Given the description of an element on the screen output the (x, y) to click on. 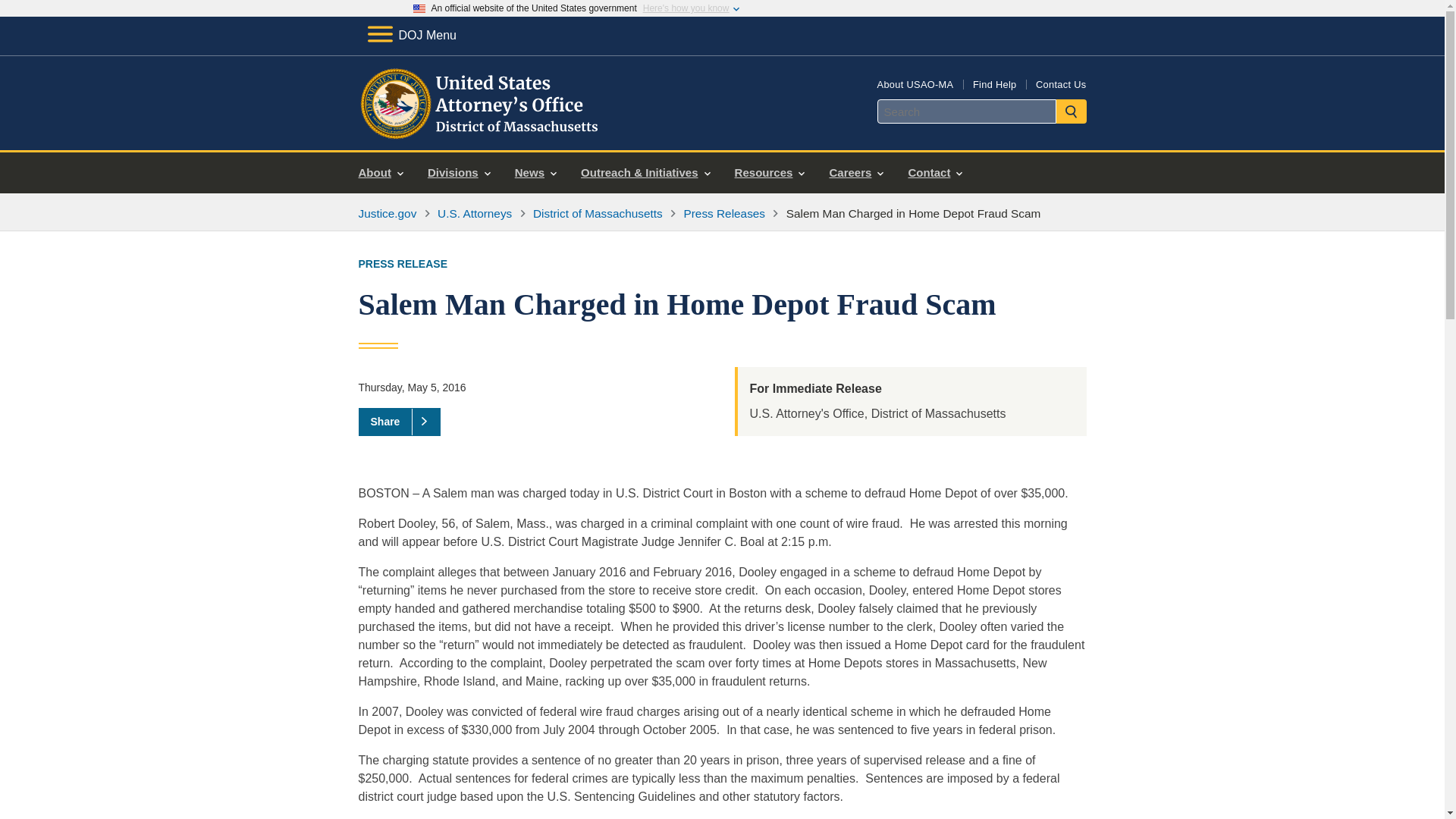
Press Releases (723, 213)
Contact (934, 173)
Here's how you know (686, 8)
Resources (769, 173)
District of Massachusetts (597, 213)
U.S. Attorneys (475, 213)
DOJ Menu (411, 35)
Careers (855, 173)
Contact Us (1060, 84)
Find Help (994, 84)
